Given the description of an element on the screen output the (x, y) to click on. 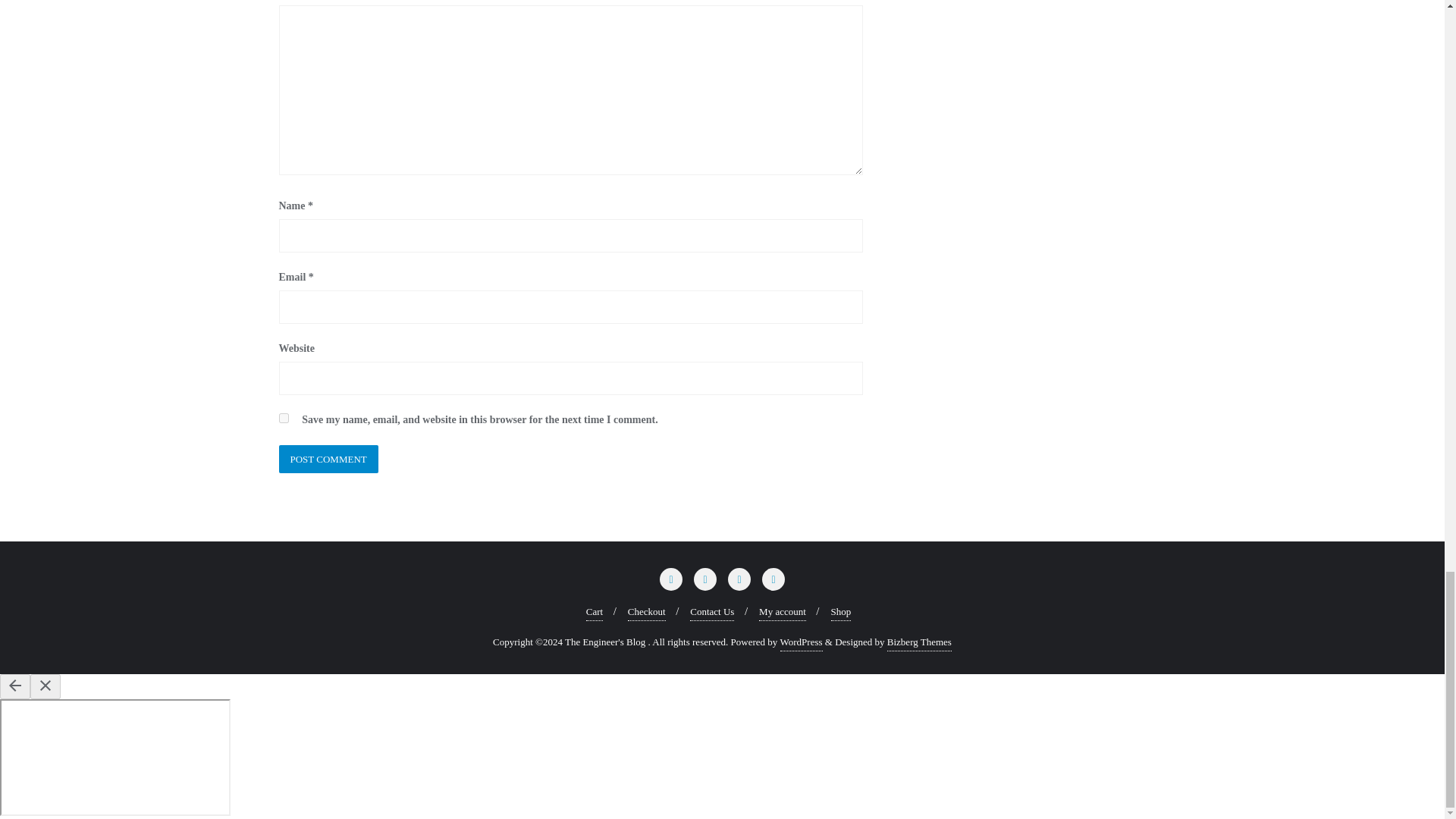
yes (283, 418)
Post Comment (328, 459)
Post Comment (328, 459)
